Given the description of an element on the screen output the (x, y) to click on. 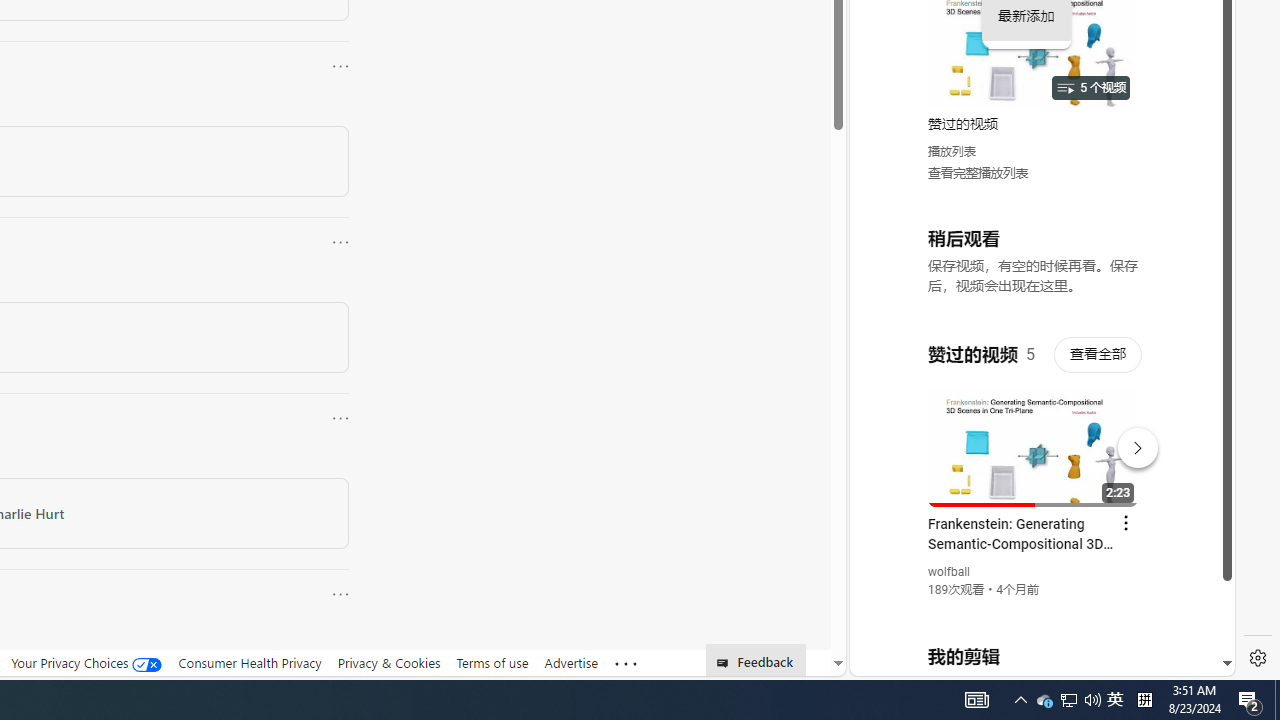
Class: dict_pnIcon rms_img (1028, 660)
US[ju] (917, 660)
